Given the description of an element on the screen output the (x, y) to click on. 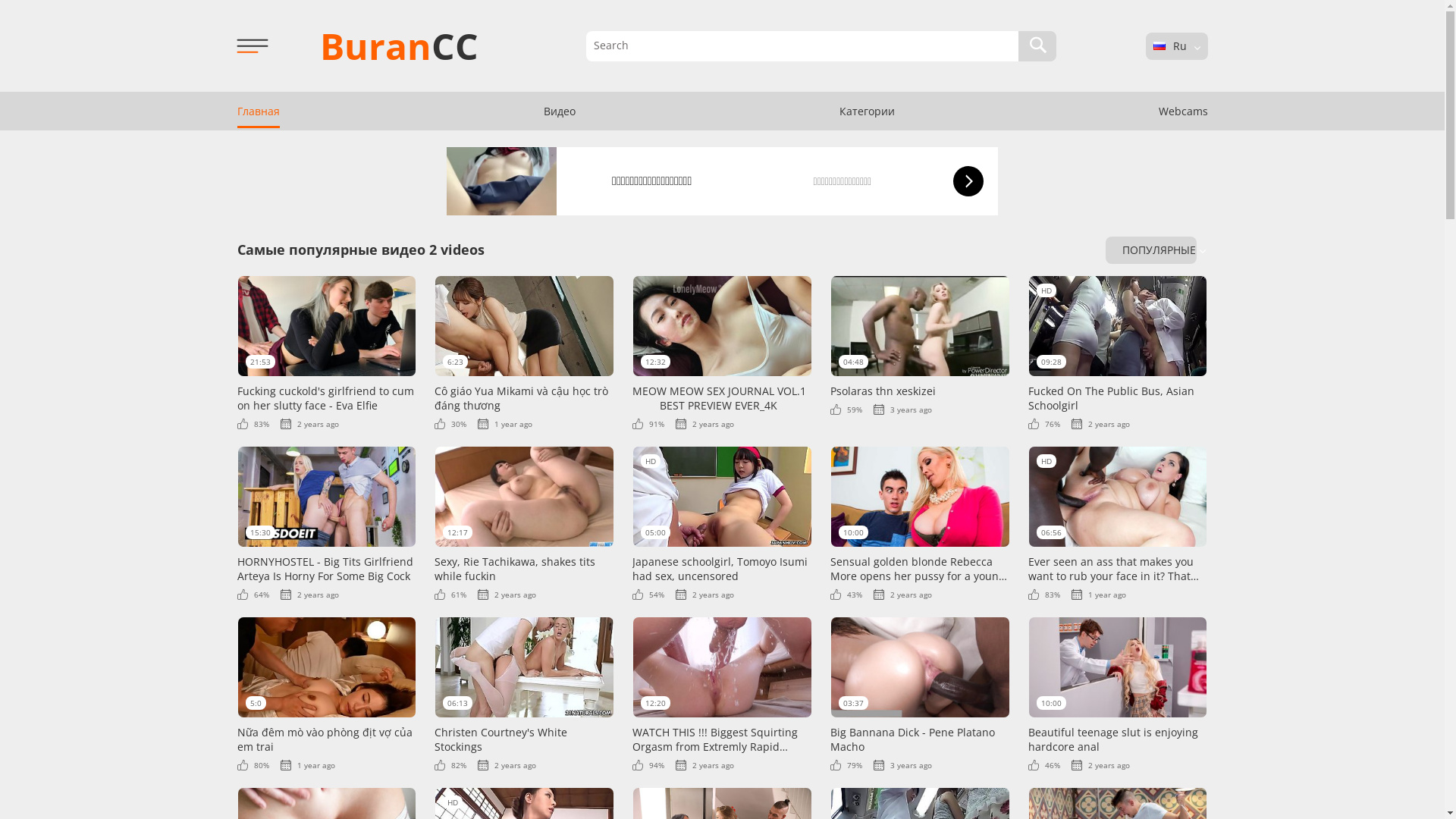
BuranCC Element type: text (399, 45)
Webcams Element type: text (1183, 111)
06:13
Christen Courtney's White Stockings
82%
2 years ago Element type: text (524, 693)
Ru Element type: hover (1158, 45)
03:37
Big Bannana Dick - Pene Platano Macho
79%
3 years ago Element type: text (920, 693)
04:48
Psolaras thn xeskizei
59%
3 years ago Element type: text (920, 344)
